Given the description of an element on the screen output the (x, y) to click on. 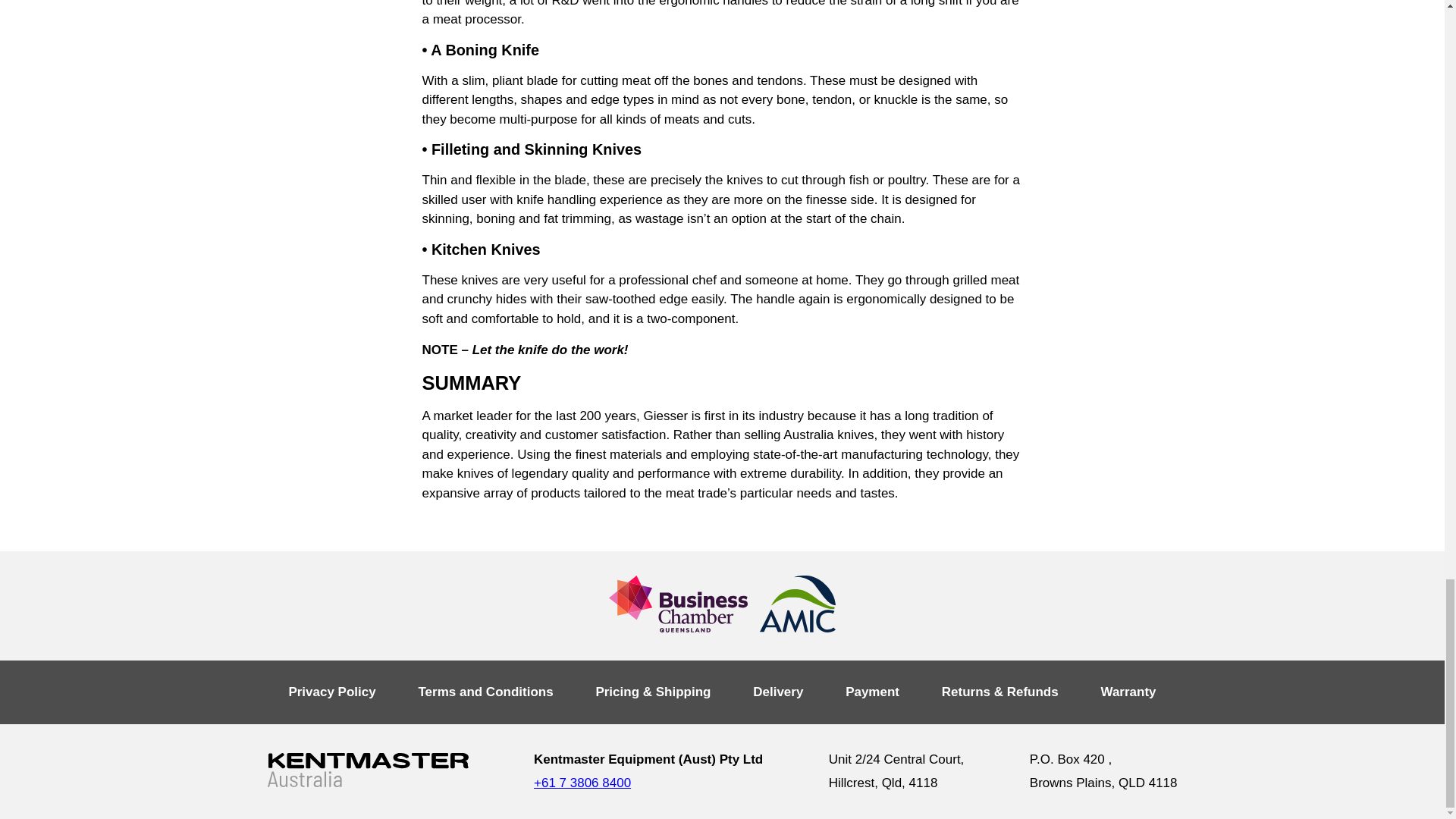
Australian Meat Industry Council (797, 605)
Business Chamber Queensland (678, 603)
Business Chamber Queensland (678, 605)
Australian Meat Industry Council (797, 603)
